Given the description of an element on the screen output the (x, y) to click on. 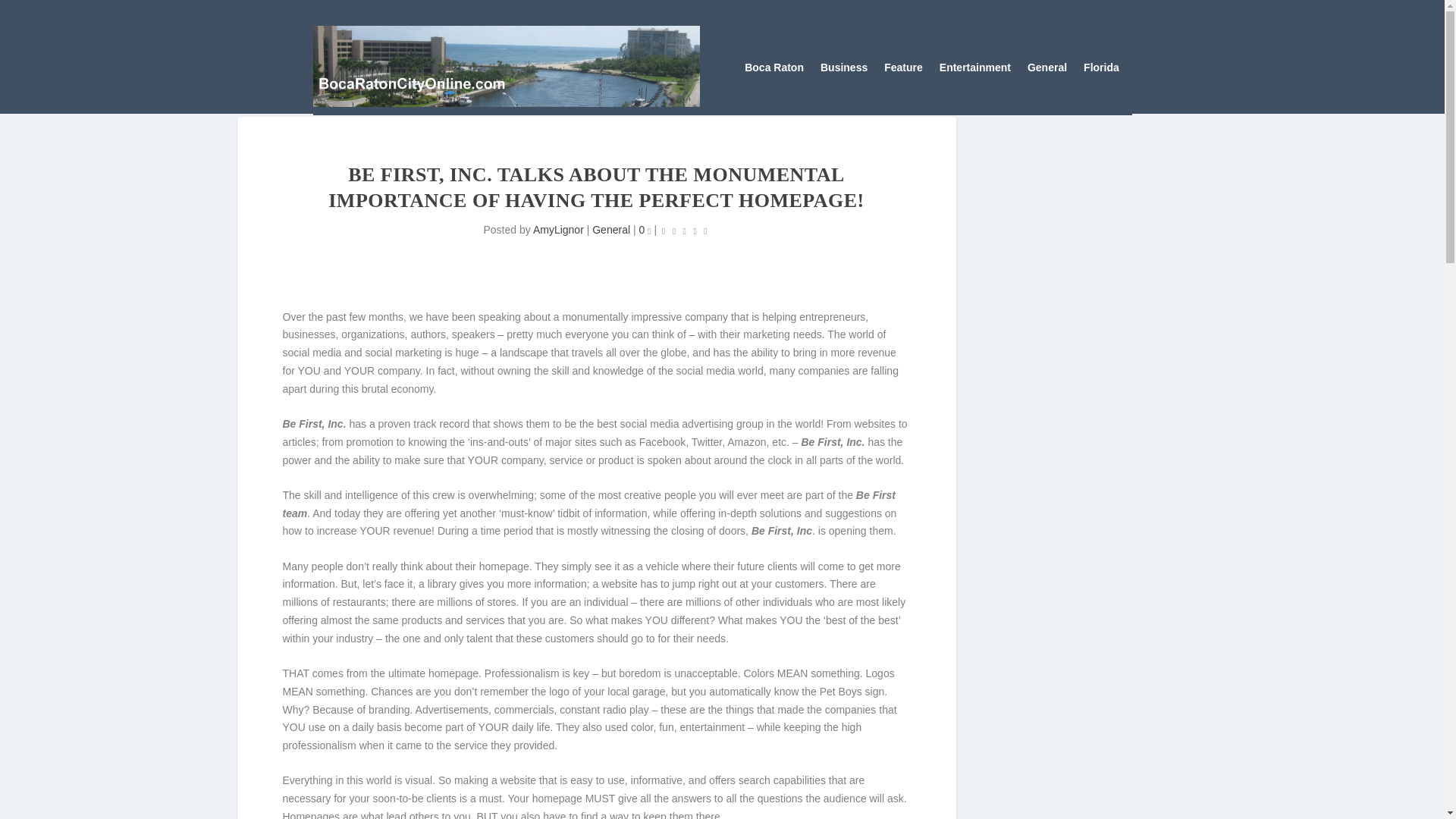
General (1047, 70)
General (611, 229)
Rating: 0.00 (684, 230)
Florida (1101, 70)
Business (844, 70)
Boca Raton (773, 70)
Posts by AmyLignor (557, 229)
Feature (903, 70)
0 (644, 229)
Entertainment (974, 70)
